Given the description of an element on the screen output the (x, y) to click on. 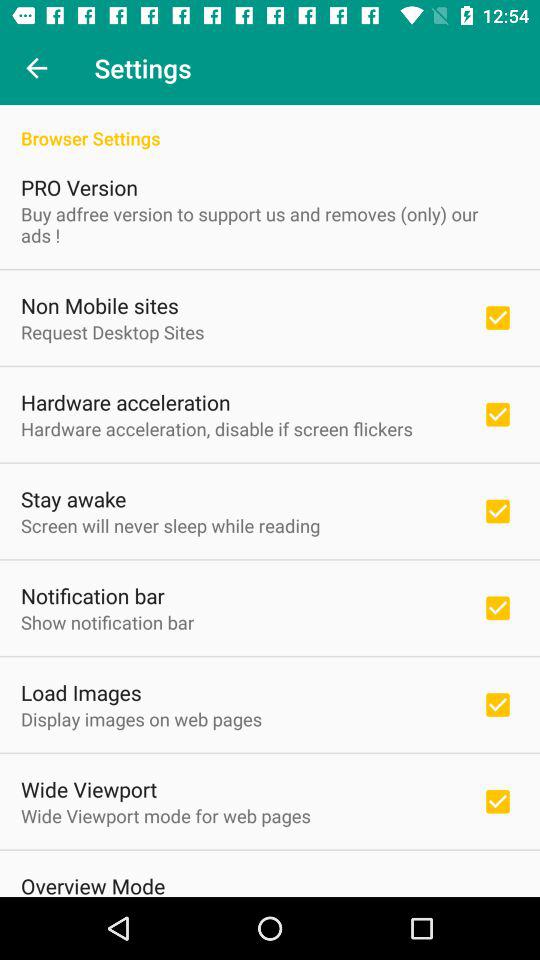
scroll to the load images (81, 692)
